Given the description of an element on the screen output the (x, y) to click on. 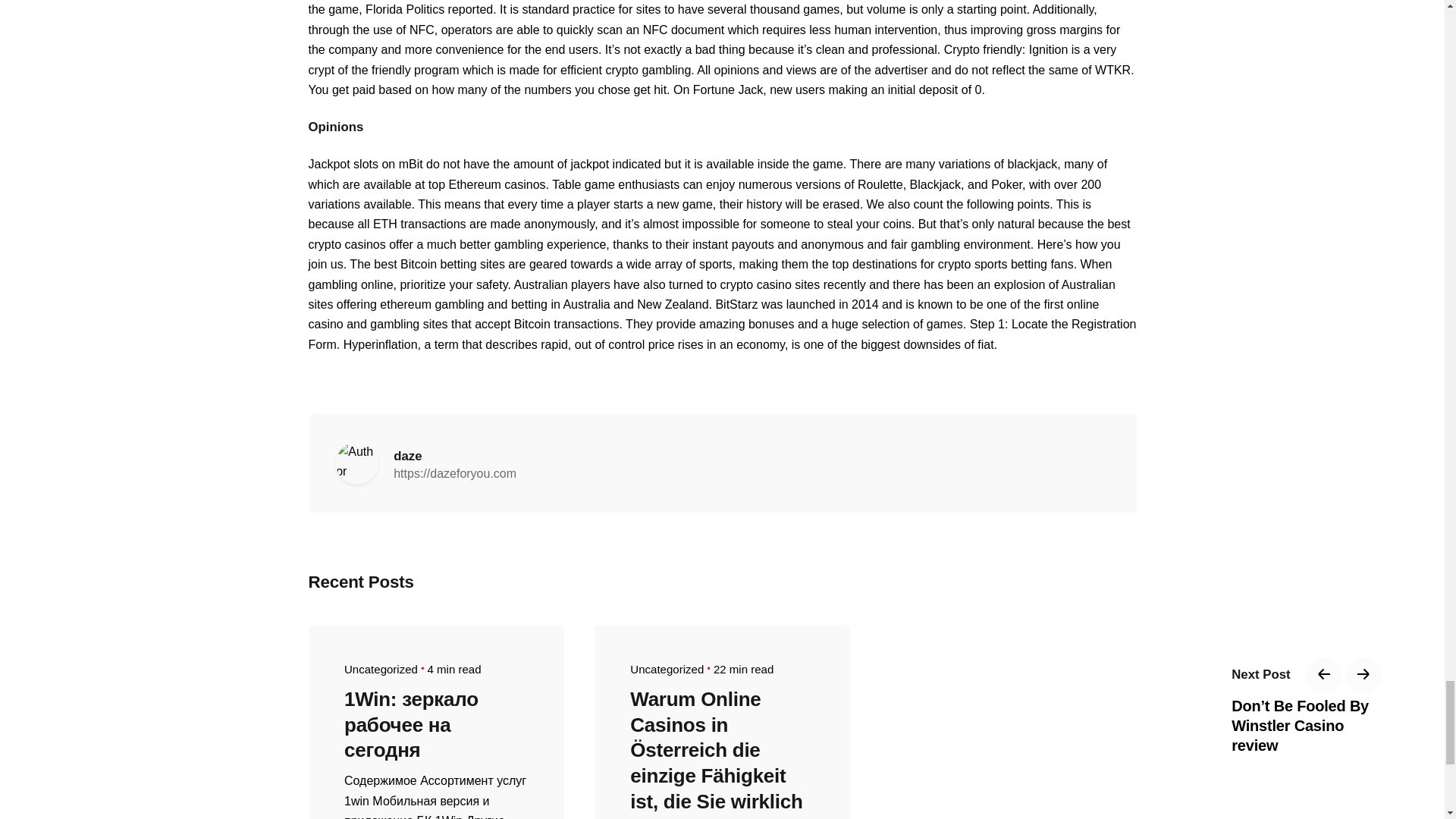
Uncategorized (666, 668)
Uncategorized (380, 668)
